Given the description of an element on the screen output the (x, y) to click on. 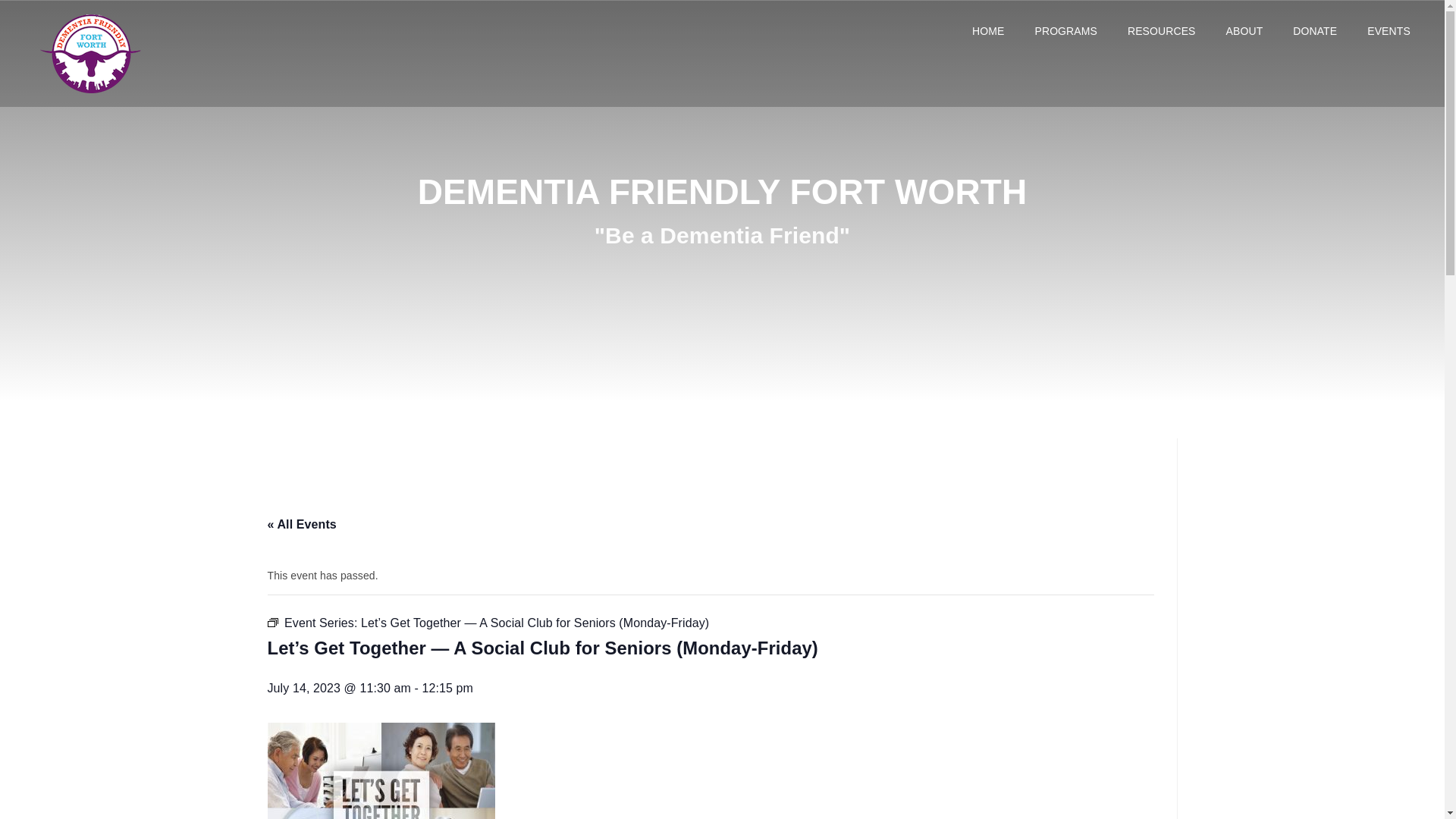
EVENTS (1388, 30)
HOME (987, 30)
DONATE (1315, 30)
RESOURCES (1161, 30)
ABOUT (1244, 30)
Event Series (272, 622)
PROGRAMS (1065, 30)
